Given the description of an element on the screen output the (x, y) to click on. 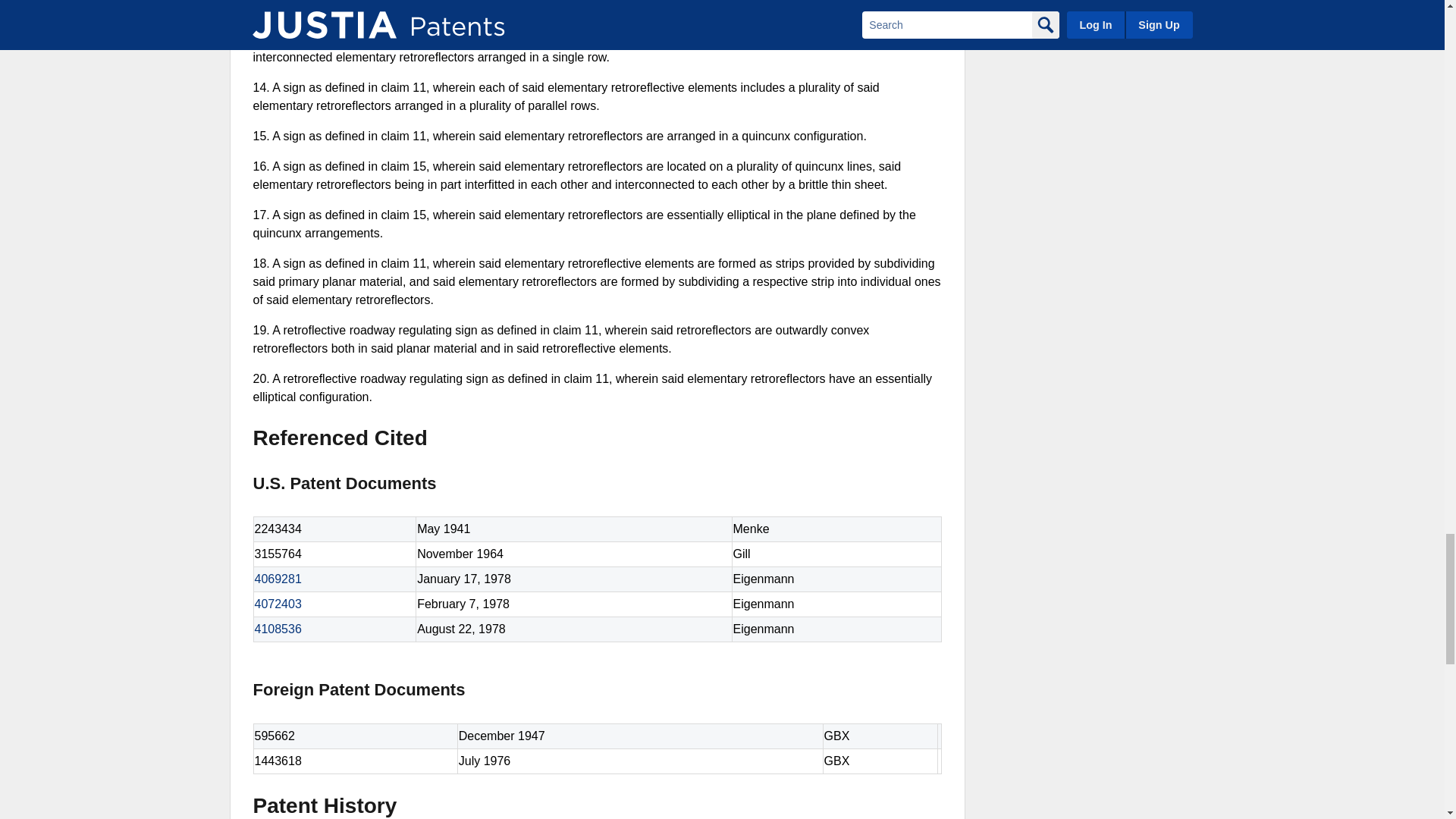
4108536 (277, 628)
4072403 (277, 603)
4069281 (277, 578)
